Given the description of an element on the screen output the (x, y) to click on. 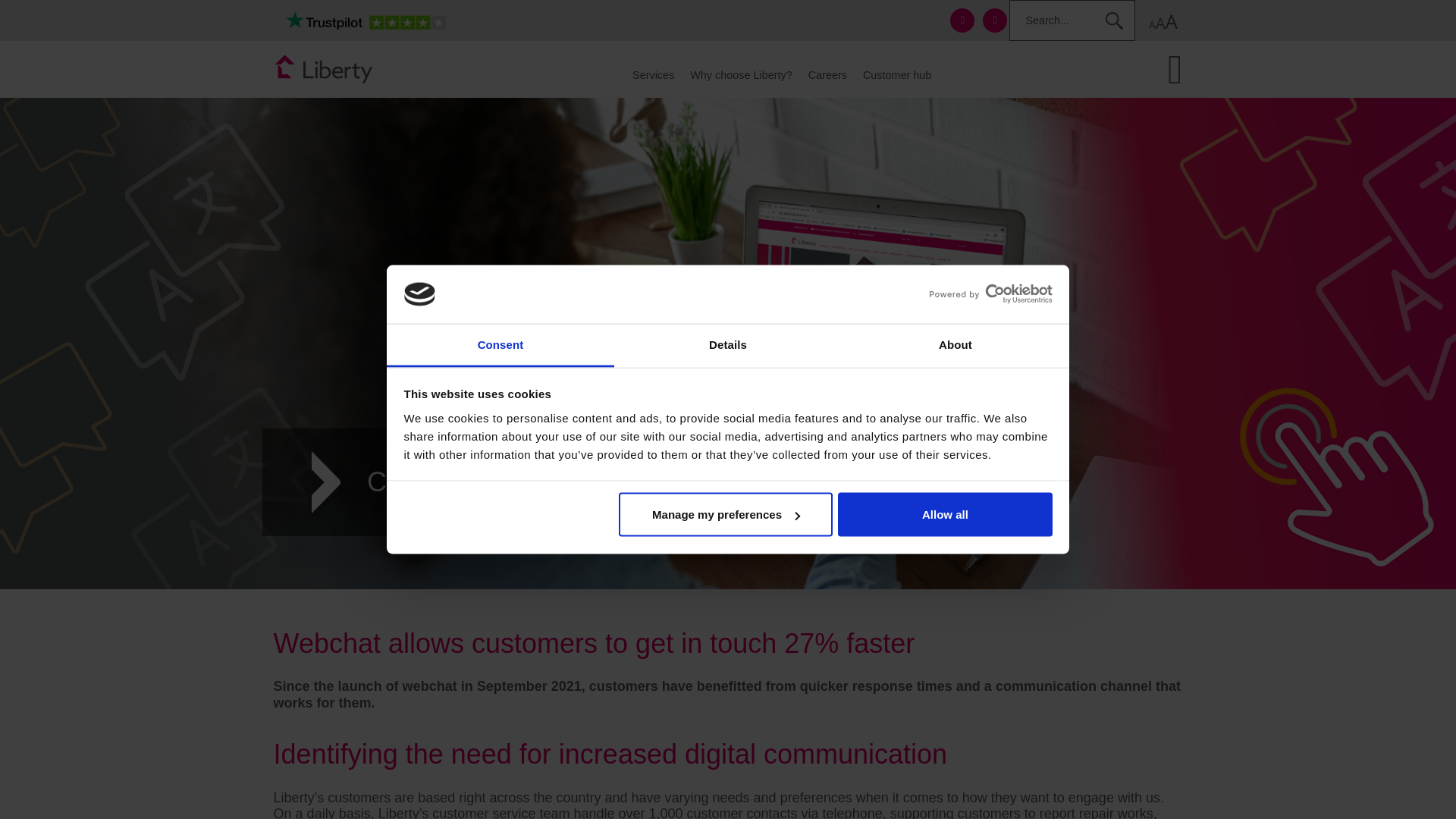
Allow all (944, 515)
Manage my preferences (725, 515)
About (954, 344)
Skip to content (314, 20)
Details (727, 344)
Consent (500, 344)
